Given the description of an element on the screen output the (x, y) to click on. 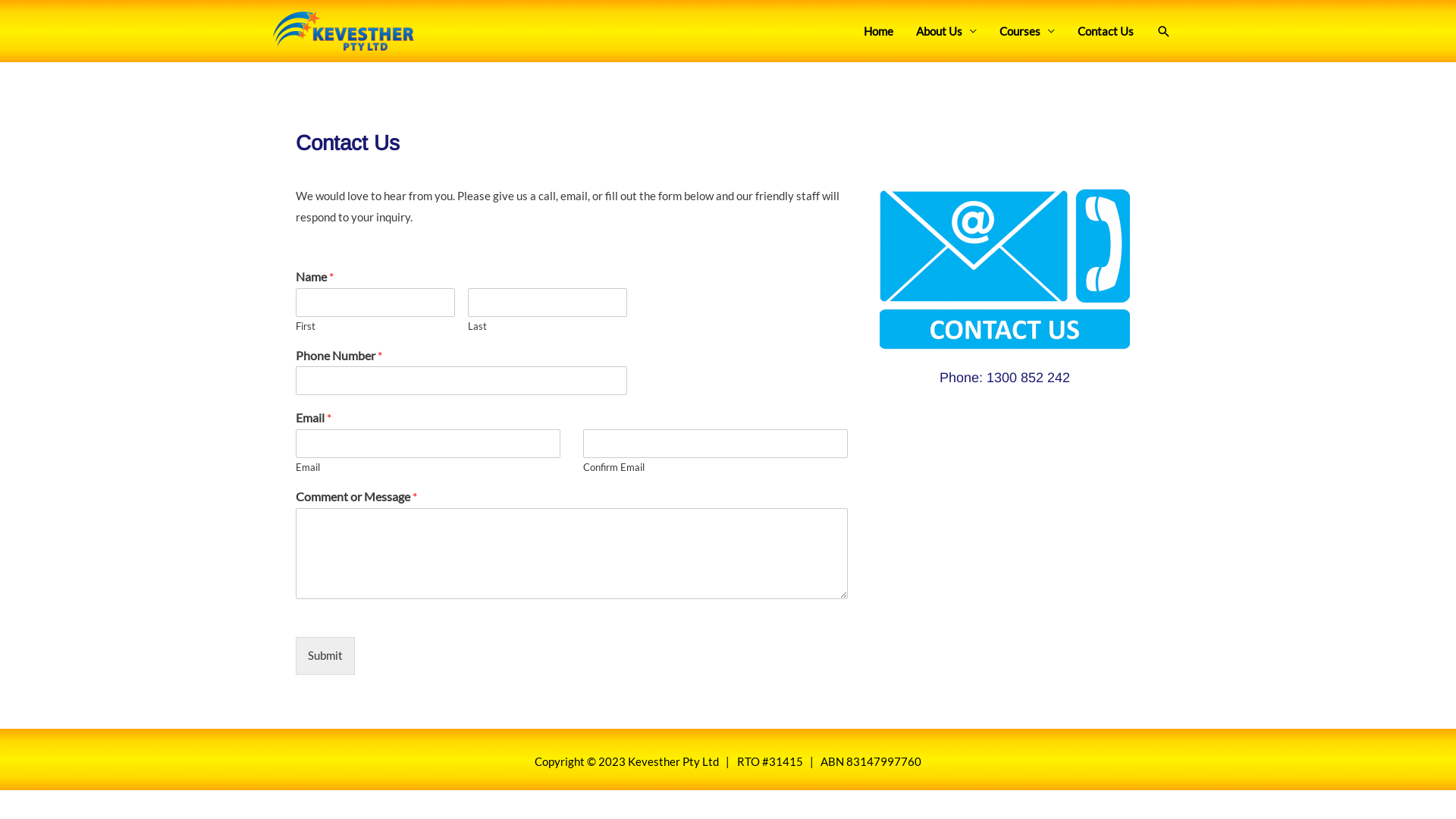
contact-us-908483_640 Element type: hover (1004, 268)
Contact Us Element type: text (1105, 31)
Search Element type: text (37, 14)
Submit Element type: text (324, 655)
Courses Element type: text (1027, 31)
About Us Element type: text (946, 31)
Home Element type: text (878, 31)
